Given the description of an element on the screen output the (x, y) to click on. 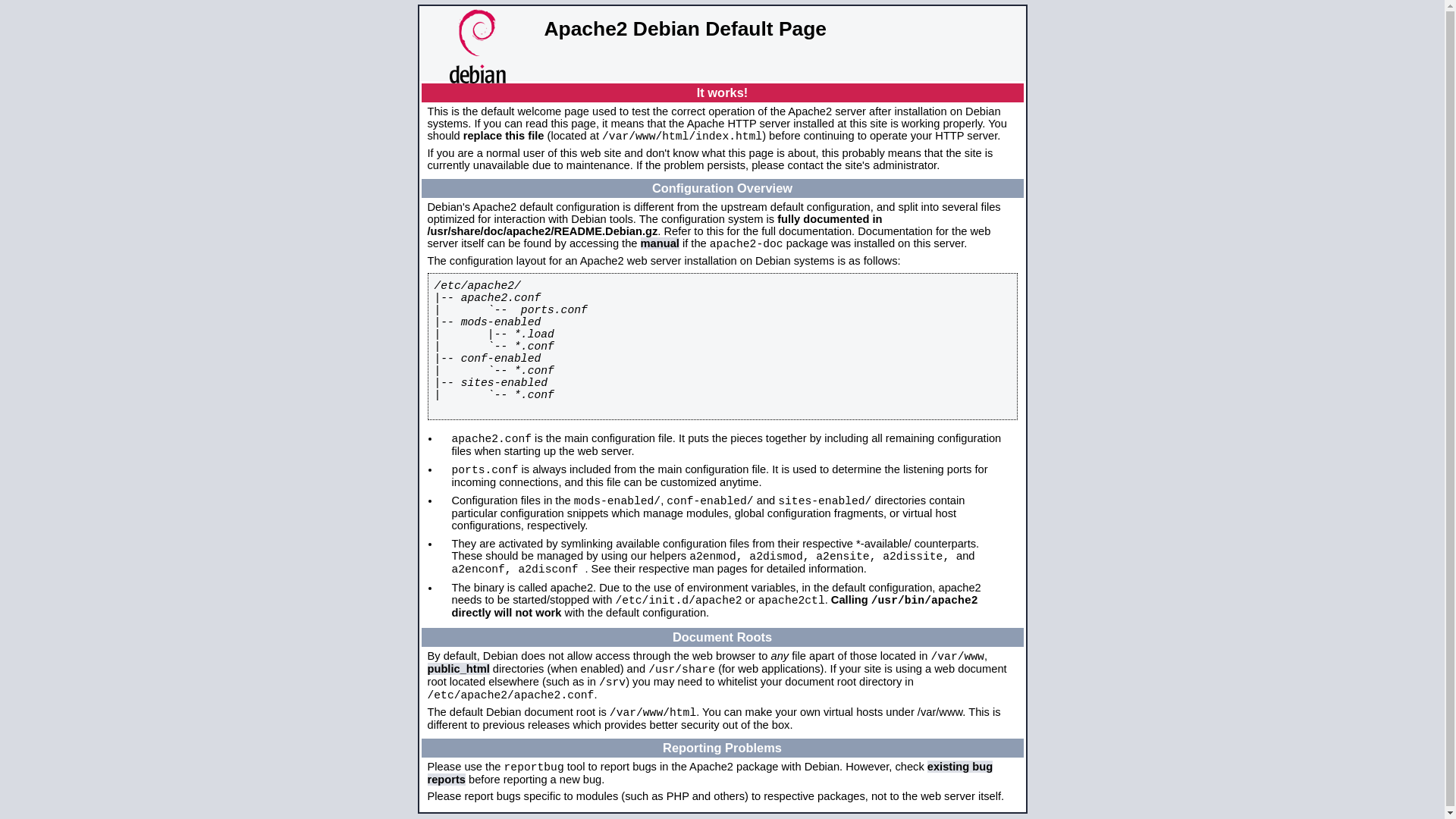
existing bug reports Element type: text (710, 772)
public_html Element type: text (458, 668)
manual Element type: text (659, 243)
